Given the description of an element on the screen output the (x, y) to click on. 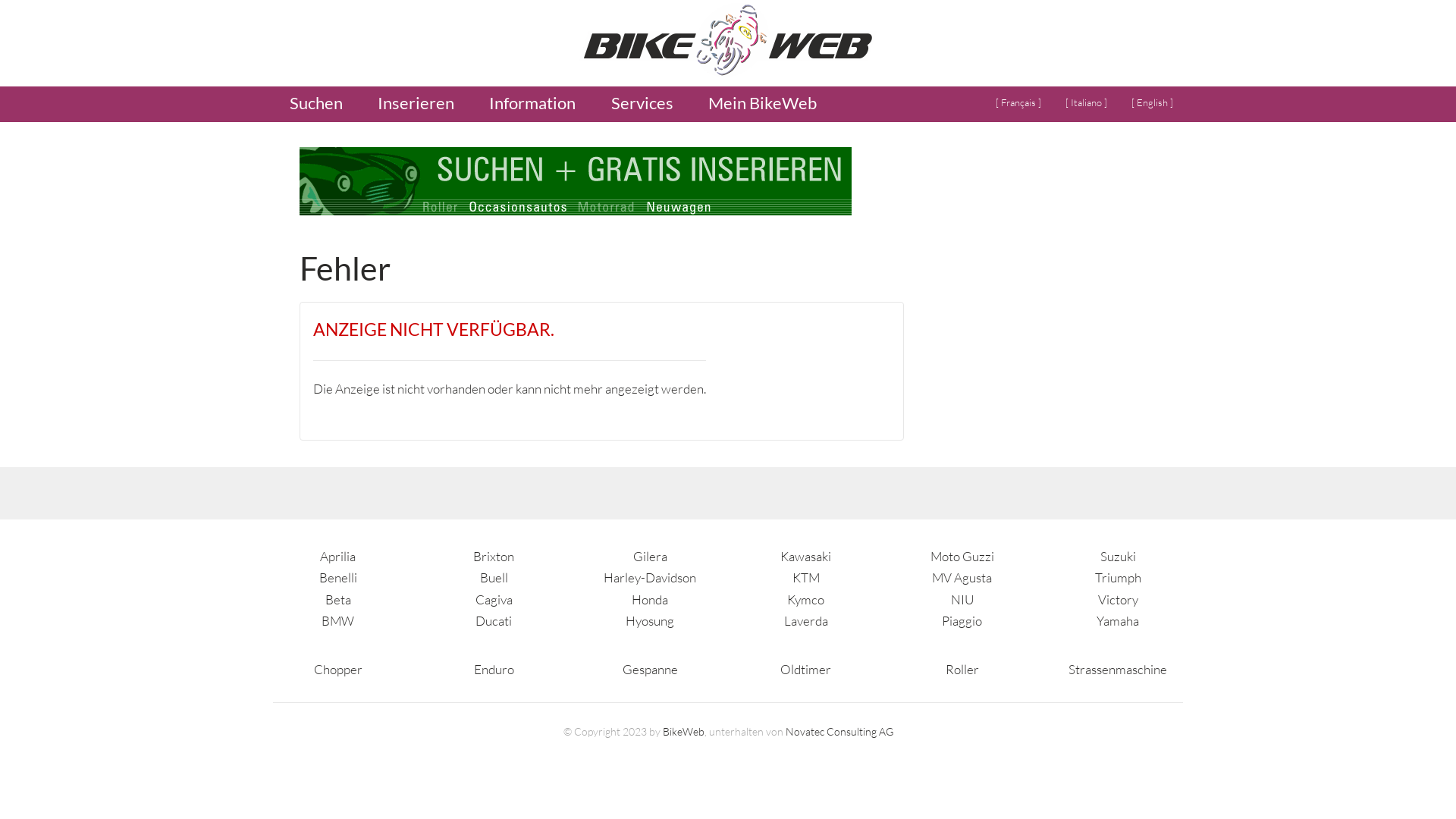
Buell Element type: text (494, 577)
Kawasaki Element type: text (805, 556)
Suchen Element type: text (315, 104)
Aprilia Element type: text (337, 556)
Strassenmaschine Element type: text (1117, 669)
Beta Element type: text (338, 599)
Hyosung Element type: text (649, 620)
Services Element type: text (641, 104)
Roller Element type: text (962, 669)
Oldtimer Element type: text (805, 669)
Cagiva Element type: text (493, 599)
KTM Element type: text (805, 577)
BikeWeb Element type: text (683, 730)
Enduro Element type: text (493, 669)
NIU Element type: text (961, 599)
BMW Element type: text (337, 620)
Harley-Davidson Element type: text (649, 577)
Kymco Element type: text (805, 599)
Moto Guzzi Element type: text (962, 556)
Gespanne Element type: text (649, 669)
Mein BikeWeb Element type: text (761, 104)
Chopper Element type: text (337, 669)
Gilera Element type: text (650, 556)
Benelli Element type: text (338, 577)
Honda Element type: text (649, 599)
Yamaha Element type: text (1117, 620)
Ducati Element type: text (493, 620)
Suzuki Element type: text (1117, 556)
MV Agusta Element type: text (961, 577)
Laverda Element type: text (806, 620)
[ English ] Element type: text (1152, 102)
[ Italiano ] Element type: text (1086, 102)
Piaggio Element type: text (961, 620)
Triumph Element type: text (1118, 577)
Information Element type: text (532, 104)
Brixton Element type: text (493, 556)
Novatec Consulting AG Element type: text (839, 730)
Inserieren Element type: text (415, 104)
Victory Element type: text (1118, 599)
